Given the description of an element on the screen output the (x, y) to click on. 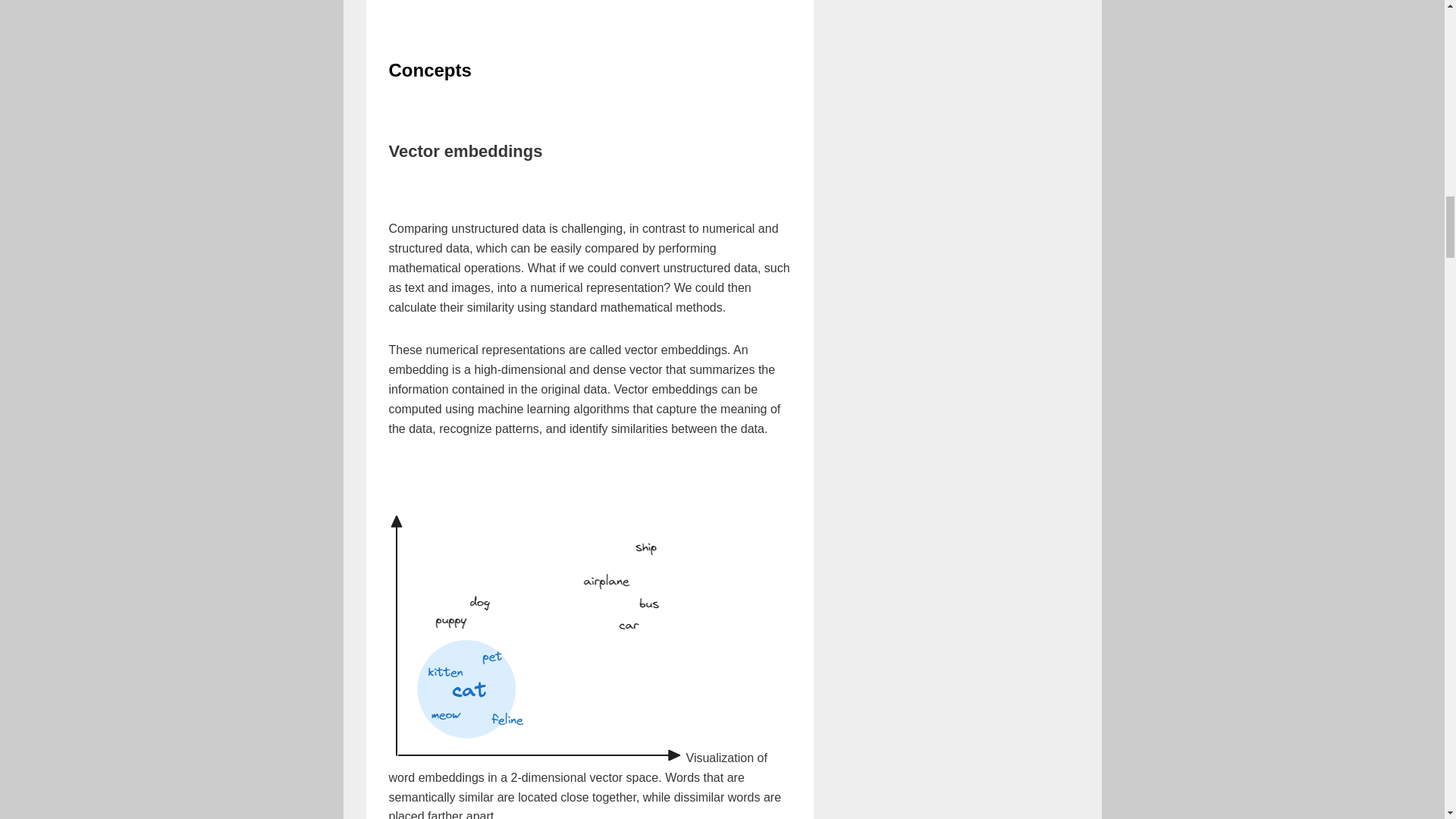
word-embeddings.png (536, 635)
